Given the description of an element on the screen output the (x, y) to click on. 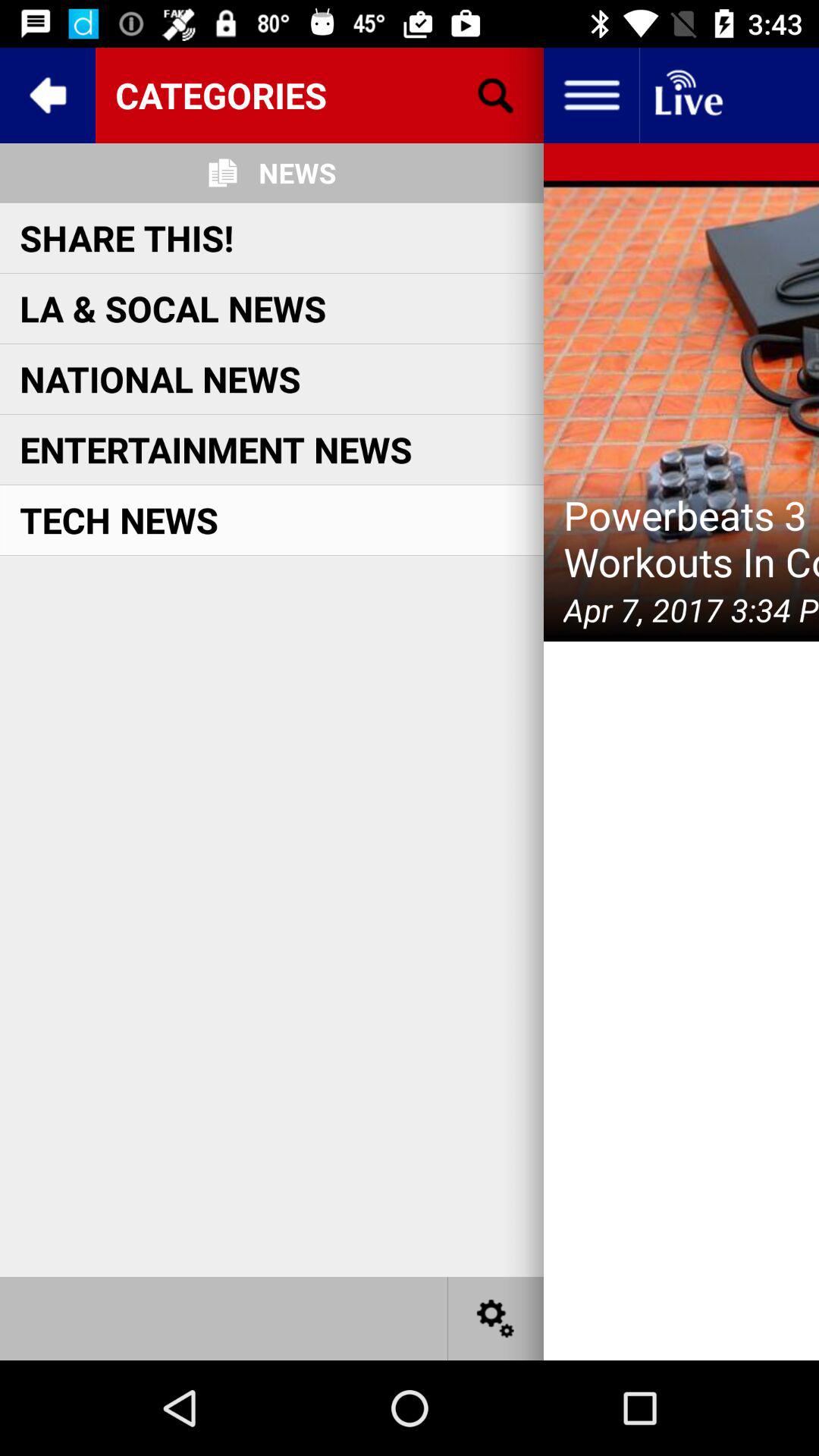
click the item above the entertainment news item (159, 378)
